Given the description of an element on the screen output the (x, y) to click on. 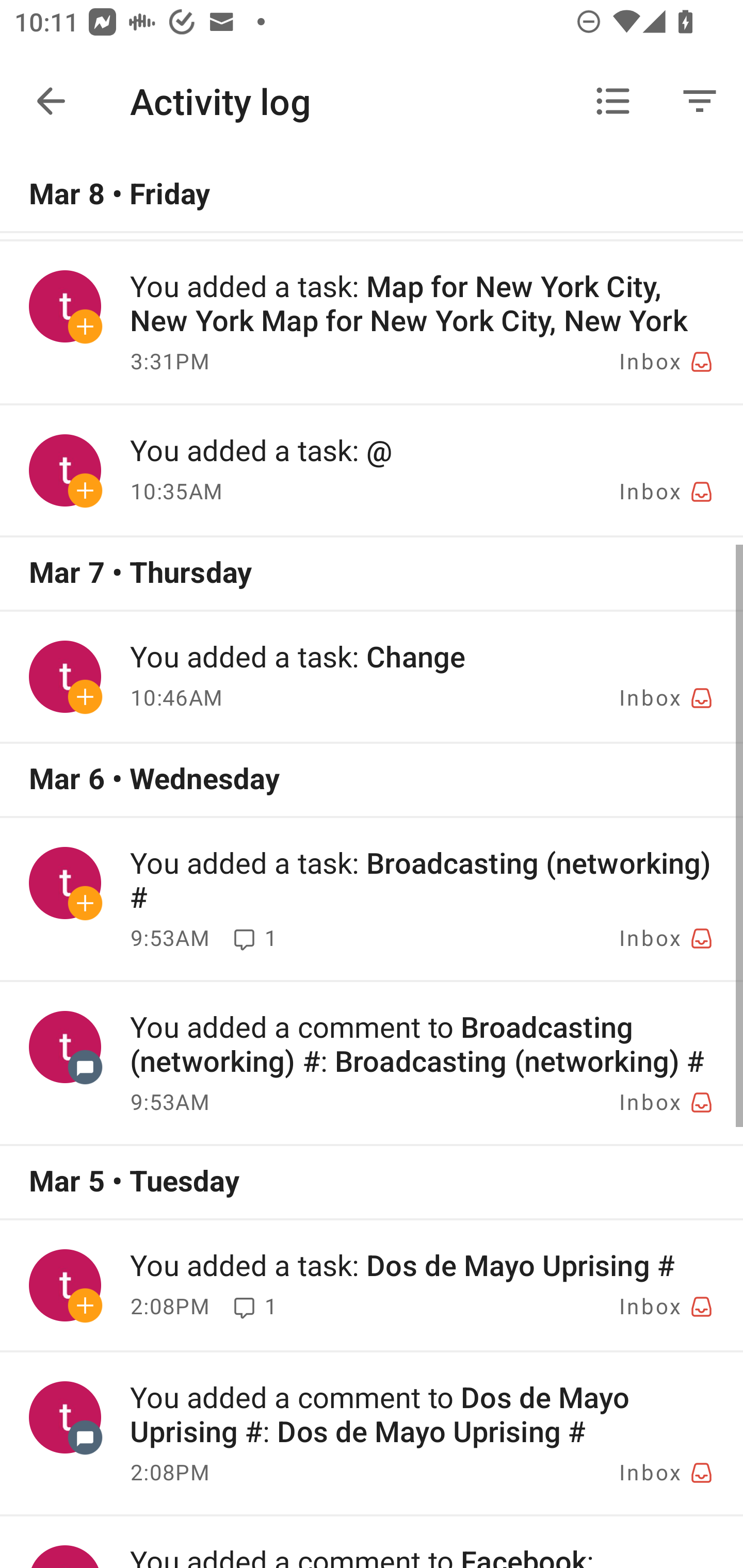
Navigate up (50, 101)
By project (612, 101)
Filter (699, 101)
You added a task: @ 10:35AM Inbox (371, 470)
Mar 7 • Thursday (371, 573)
You added a task: Change 10:46AM Inbox (371, 676)
Mar 6 • Wednesday (371, 779)
Mar 5 • Tuesday (371, 1182)
